Given the description of an element on the screen output the (x, y) to click on. 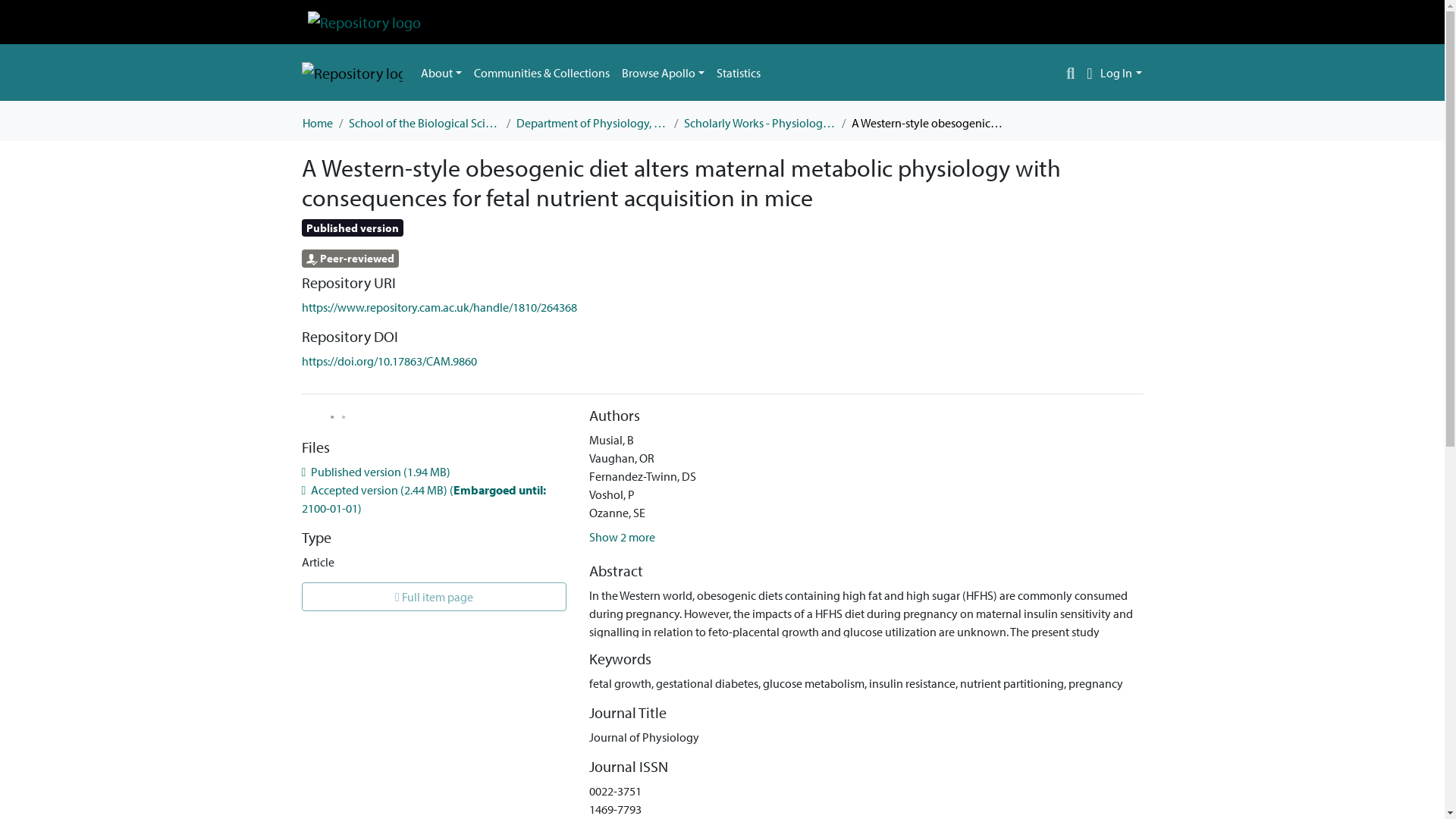
Statistics (738, 72)
Full item page (434, 596)
About (440, 72)
Log In (1120, 72)
Language switch (1089, 72)
Search (1070, 72)
Show 2 more (622, 536)
Department of Physiology, Development and Neuroscience (590, 122)
Scholarly Works - Physiology, Development and Neuroscience (759, 122)
School of the Biological Sciences (424, 122)
